Given the description of an element on the screen output the (x, y) to click on. 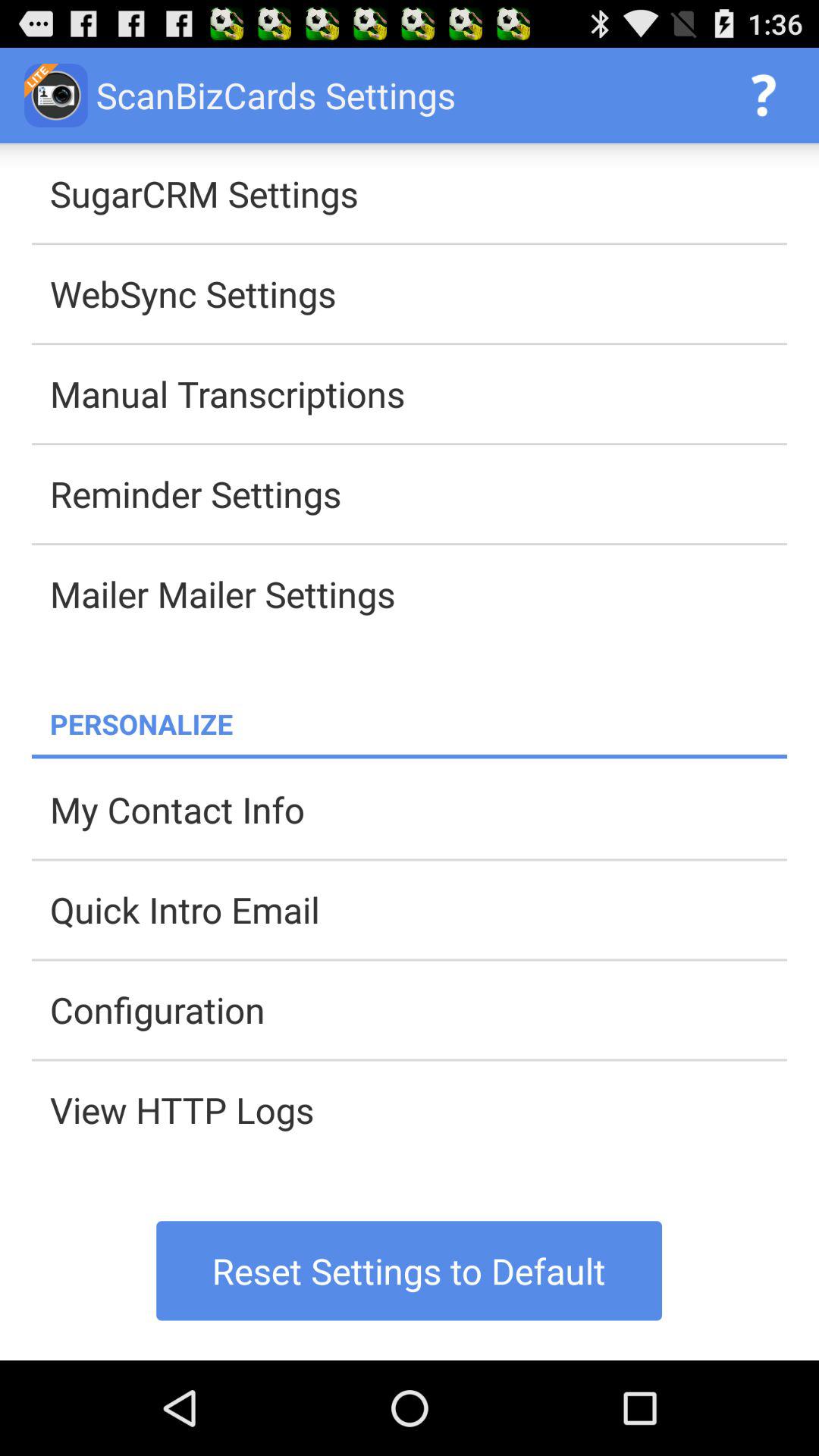
press icon above the reset settings to item (418, 1109)
